Given the description of an element on the screen output the (x, y) to click on. 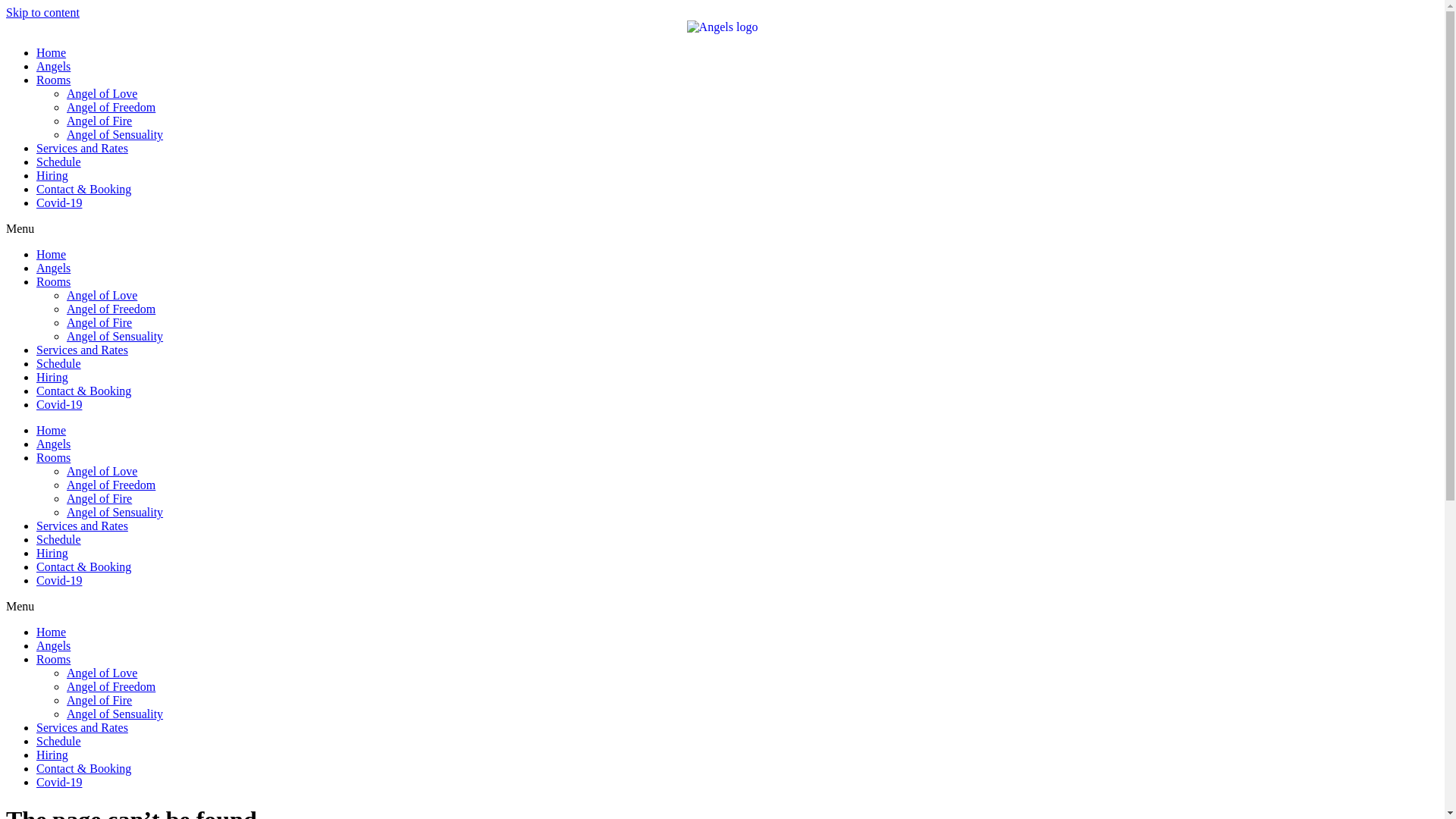
Schedule Element type: text (58, 740)
Angel of Love Element type: text (101, 470)
Angel of Fire Element type: text (98, 322)
Services and Rates Element type: text (82, 349)
Schedule Element type: text (58, 539)
Angel of Sensuality Element type: text (114, 511)
Angel of Sensuality Element type: text (114, 335)
Angel of Sensuality Element type: text (114, 713)
Hiring Element type: text (52, 754)
Covid-19 Element type: text (58, 202)
Angel of Freedom Element type: text (110, 106)
Skip to content Element type: text (42, 12)
Covid-19 Element type: text (58, 404)
Contact & Booking Element type: text (83, 390)
Angels Element type: text (53, 443)
Home Element type: text (50, 52)
Angel of Fire Element type: text (98, 699)
Angel of Freedom Element type: text (110, 686)
Services and Rates Element type: text (82, 727)
Covid-19 Element type: text (58, 781)
Angel of Love Element type: text (101, 93)
Angel of Love Element type: text (101, 672)
Covid-19 Element type: text (58, 580)
Contact & Booking Element type: text (83, 566)
Angel of Freedom Element type: text (110, 484)
Services and Rates Element type: text (82, 147)
Angel of Love Element type: text (101, 294)
Angels Element type: text (53, 65)
Angels Element type: text (53, 267)
Hiring Element type: text (52, 552)
Angels Element type: text (53, 645)
Angel of Fire Element type: text (98, 120)
Services and Rates Element type: text (82, 525)
Schedule Element type: text (58, 363)
Home Element type: text (50, 429)
Angel of Sensuality Element type: text (114, 134)
Rooms Element type: text (53, 79)
Angel of Fire Element type: text (98, 498)
Angels logo Element type: hover (722, 27)
Home Element type: text (50, 253)
Schedule Element type: text (58, 161)
Contact & Booking Element type: text (83, 188)
Rooms Element type: text (53, 457)
Angel of Freedom Element type: text (110, 308)
Contact & Booking Element type: text (83, 768)
Hiring Element type: text (52, 175)
Home Element type: text (50, 631)
Rooms Element type: text (53, 658)
Rooms Element type: text (53, 281)
Hiring Element type: text (52, 376)
